Given the description of an element on the screen output the (x, y) to click on. 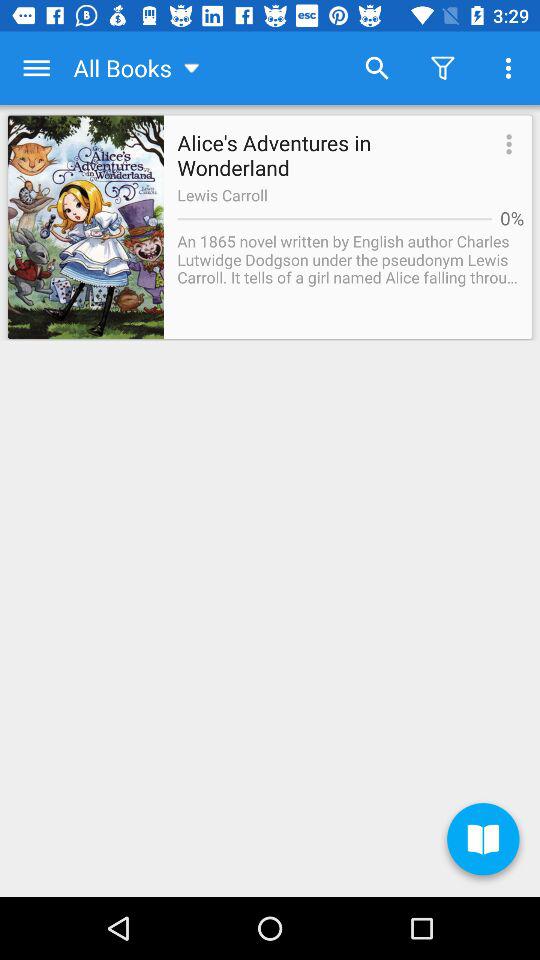
turn on item to the right of the all books (376, 67)
